Given the description of an element on the screen output the (x, y) to click on. 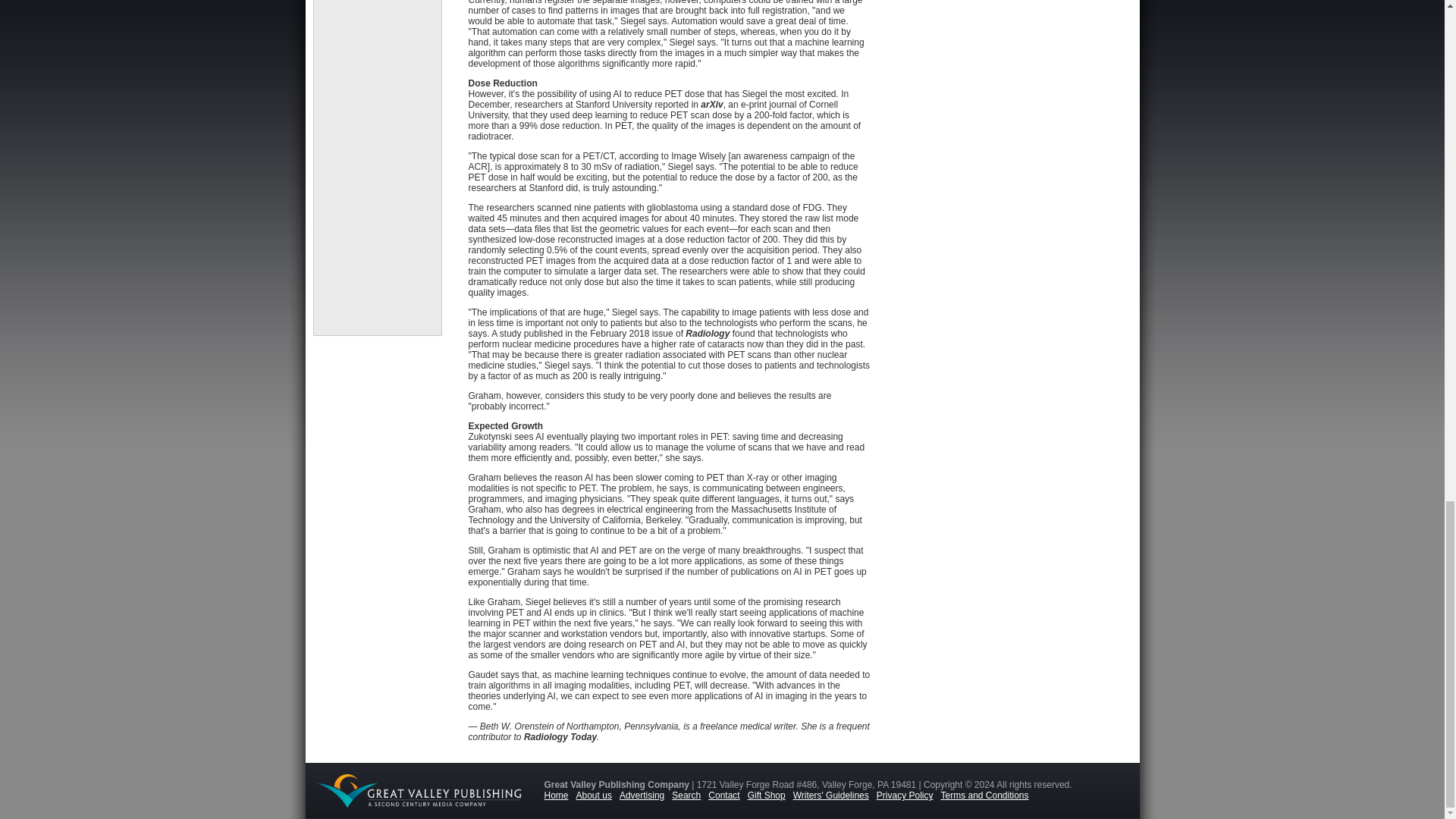
Home (560, 795)
About us (598, 795)
Advertising (645, 795)
